Given the description of an element on the screen output the (x, y) to click on. 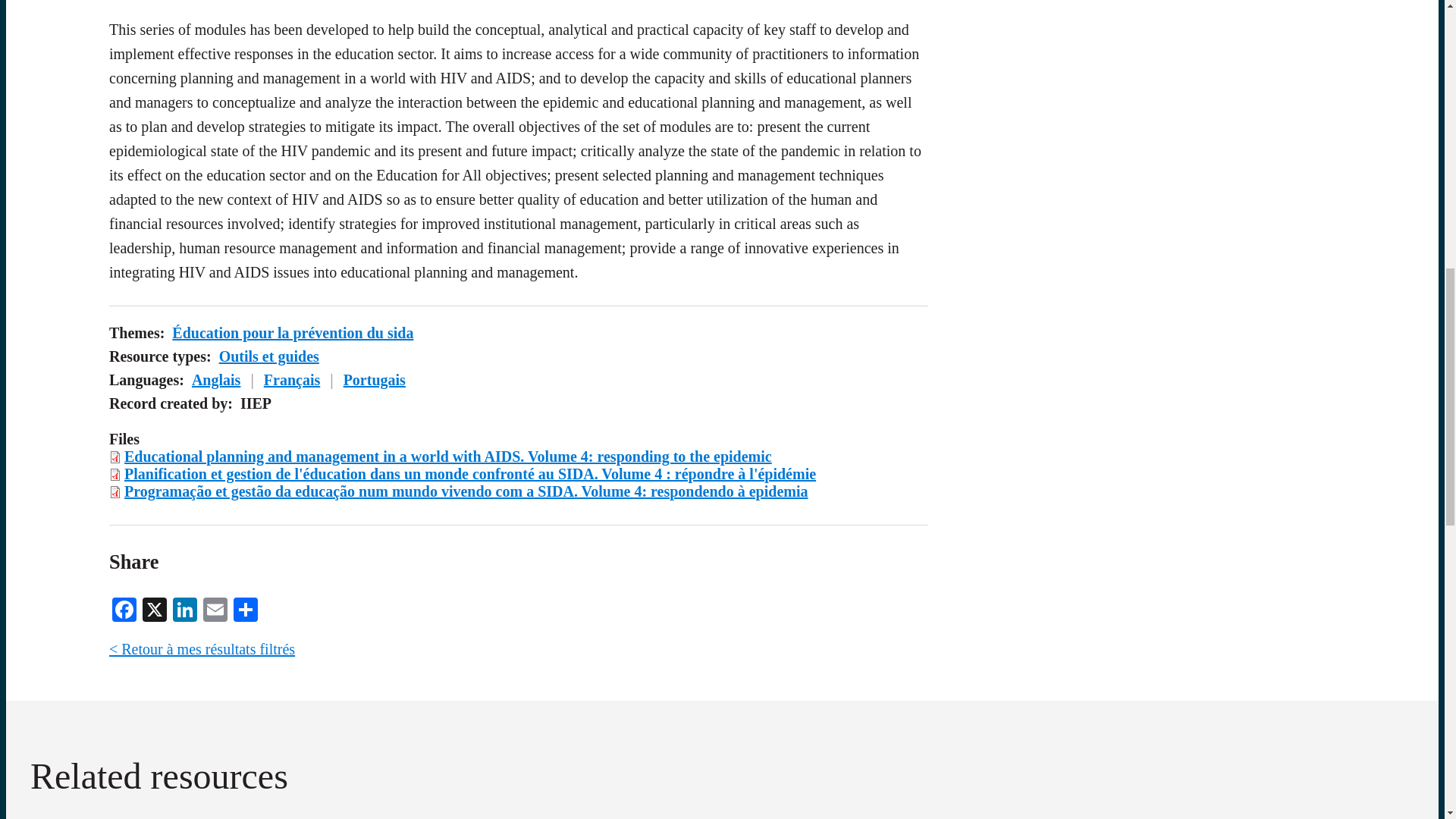
X (154, 607)
Facebook (124, 607)
LinkedIn (185, 607)
Portugais (374, 379)
Outils et guides (268, 356)
Share (245, 607)
Anglais (216, 379)
Email (215, 607)
